Given the description of an element on the screen output the (x, y) to click on. 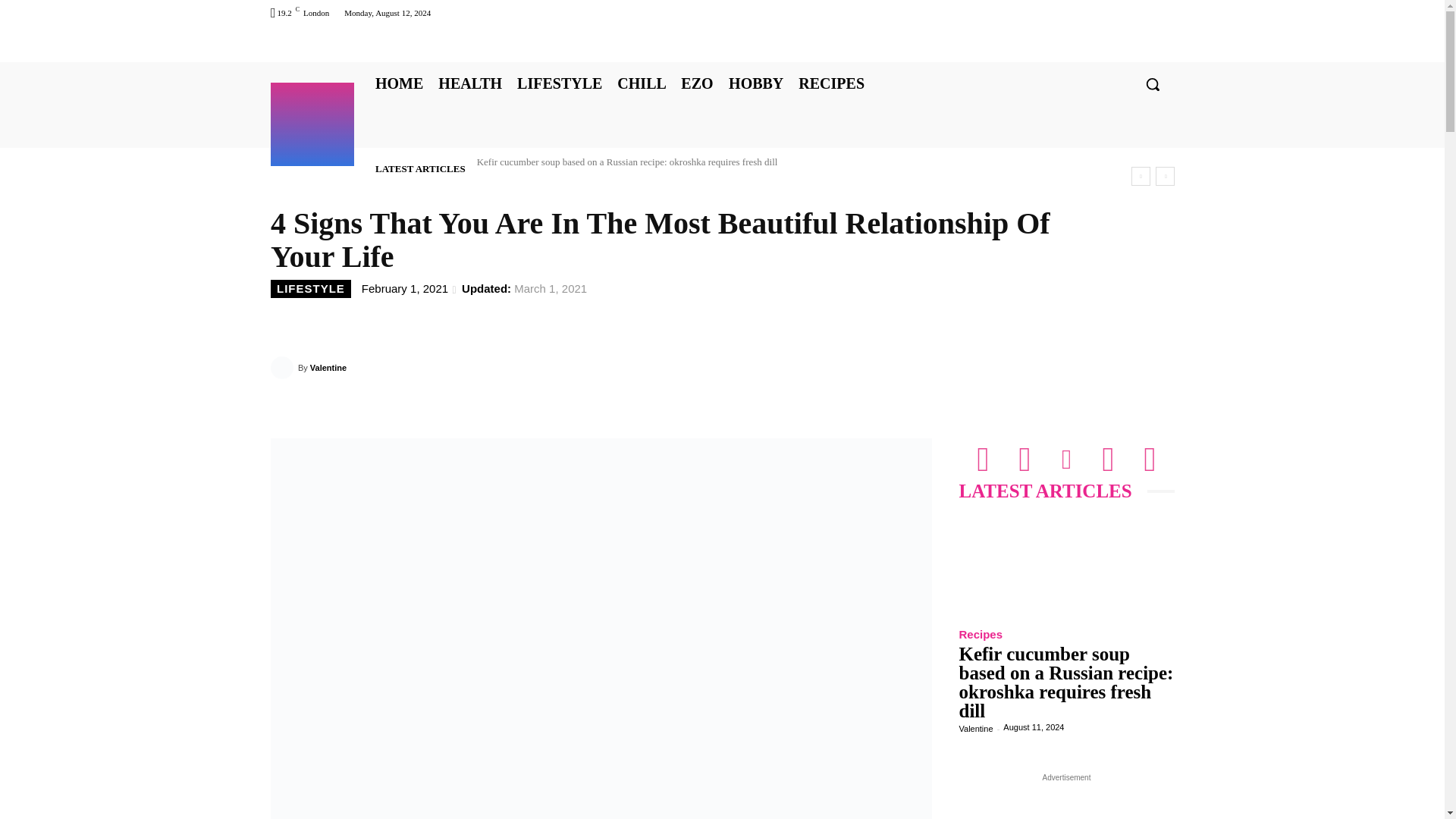
HOBBY (755, 83)
LIFESTYLE (559, 83)
HOME (398, 83)
RECIPES (831, 83)
HEALTH (470, 83)
CHILL (641, 83)
EZO (697, 83)
